Given the description of an element on the screen output the (x, y) to click on. 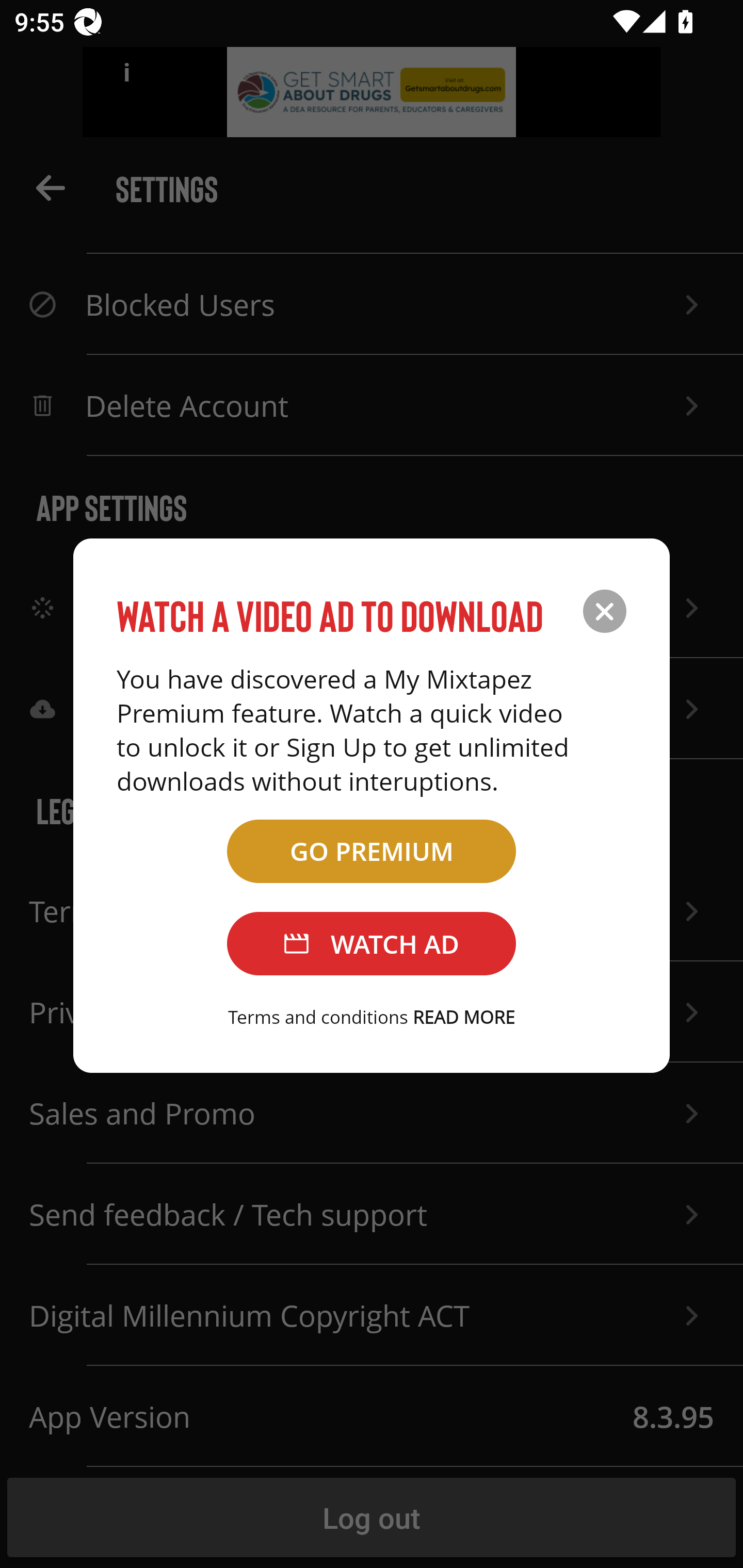
GO PREMIUM (371, 851)
WATCH AD (371, 943)
Terms and conditions READ MORE (371, 1016)
